Given the description of an element on the screen output the (x, y) to click on. 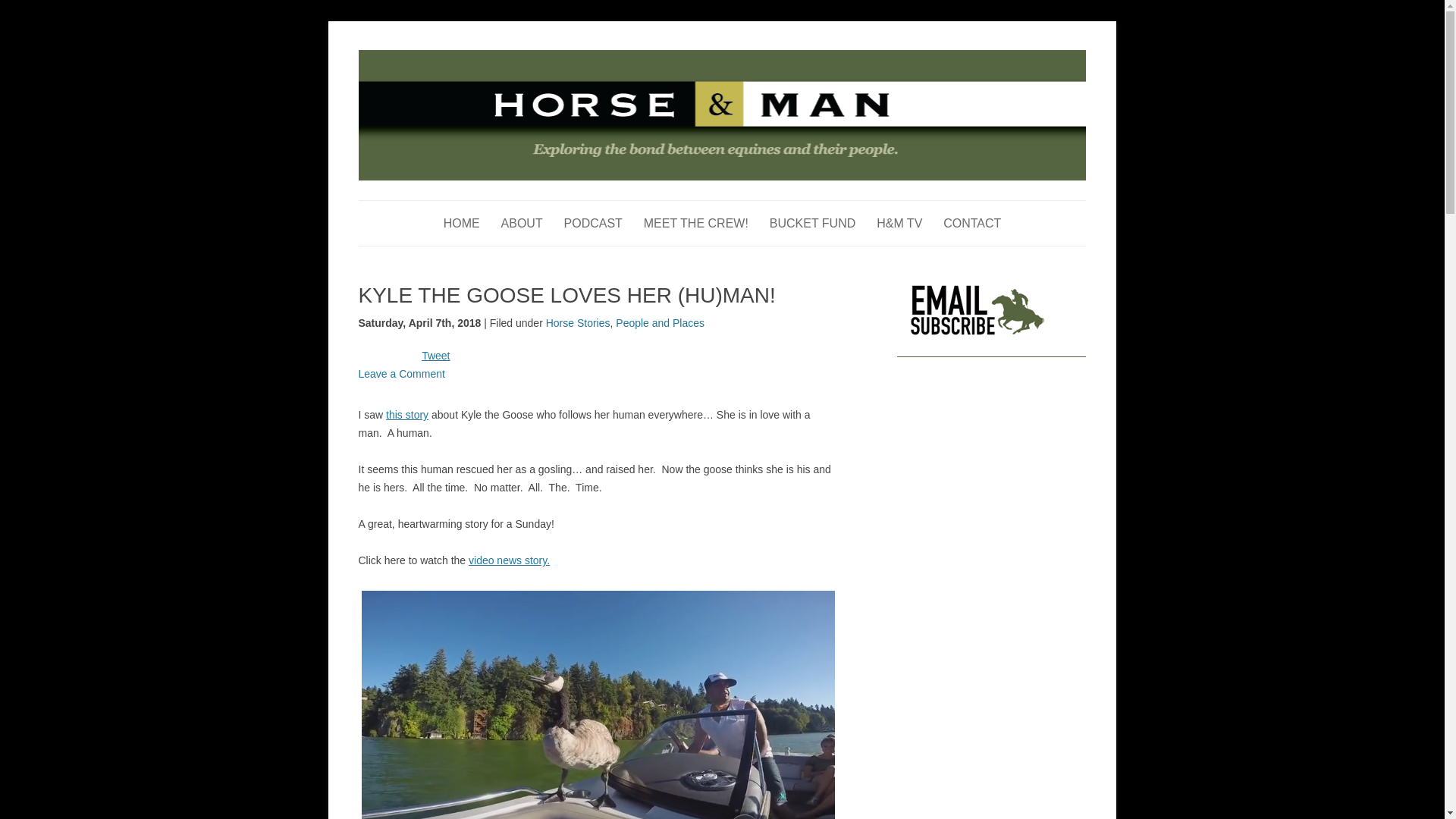
PODCAST (593, 222)
Horse and Man (428, 57)
People and Places (659, 322)
MEET THE CREW! (695, 222)
CONTACT (972, 222)
Meet the Horse and Man Crew (695, 222)
Horse Stories (578, 322)
The Drop in the Bucket Fund Story (813, 222)
Contact Horse and Man (972, 222)
Skip to content (757, 204)
